Given the description of an element on the screen output the (x, y) to click on. 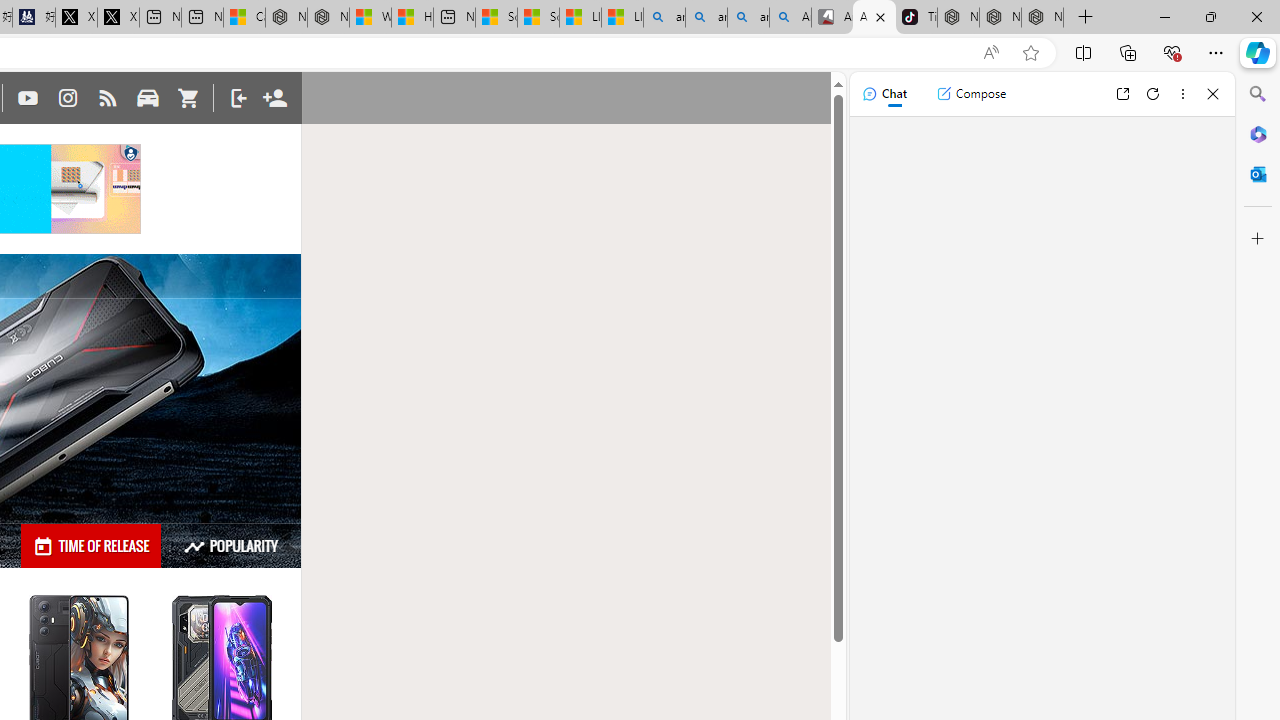
TikTok (916, 17)
Class: qc-adchoices-link top-right  (130, 151)
Compose (971, 93)
